Given the description of an element on the screen output the (x, y) to click on. 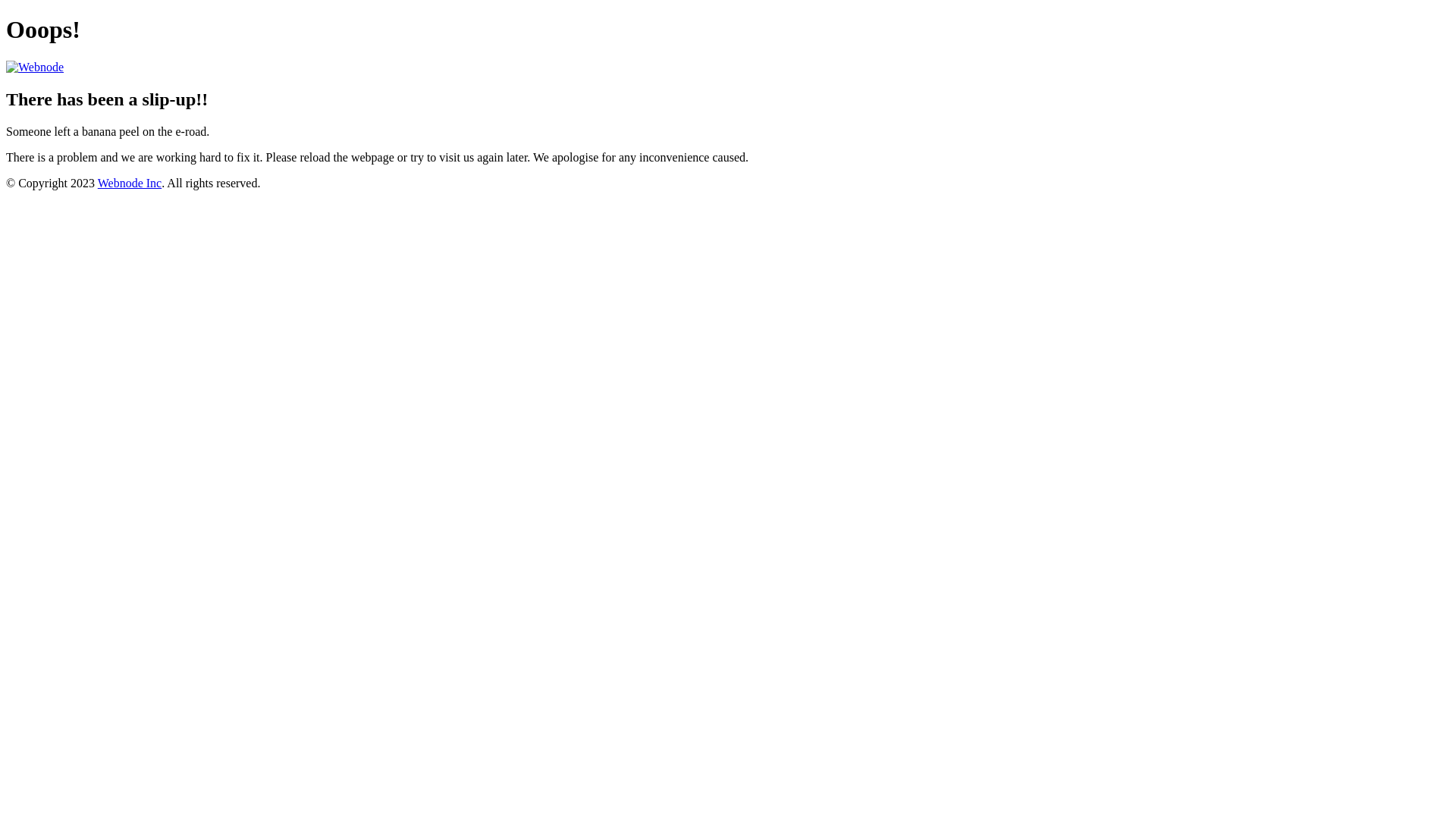
Webnode Inc Element type: text (129, 182)
